Given the description of an element on the screen output the (x, y) to click on. 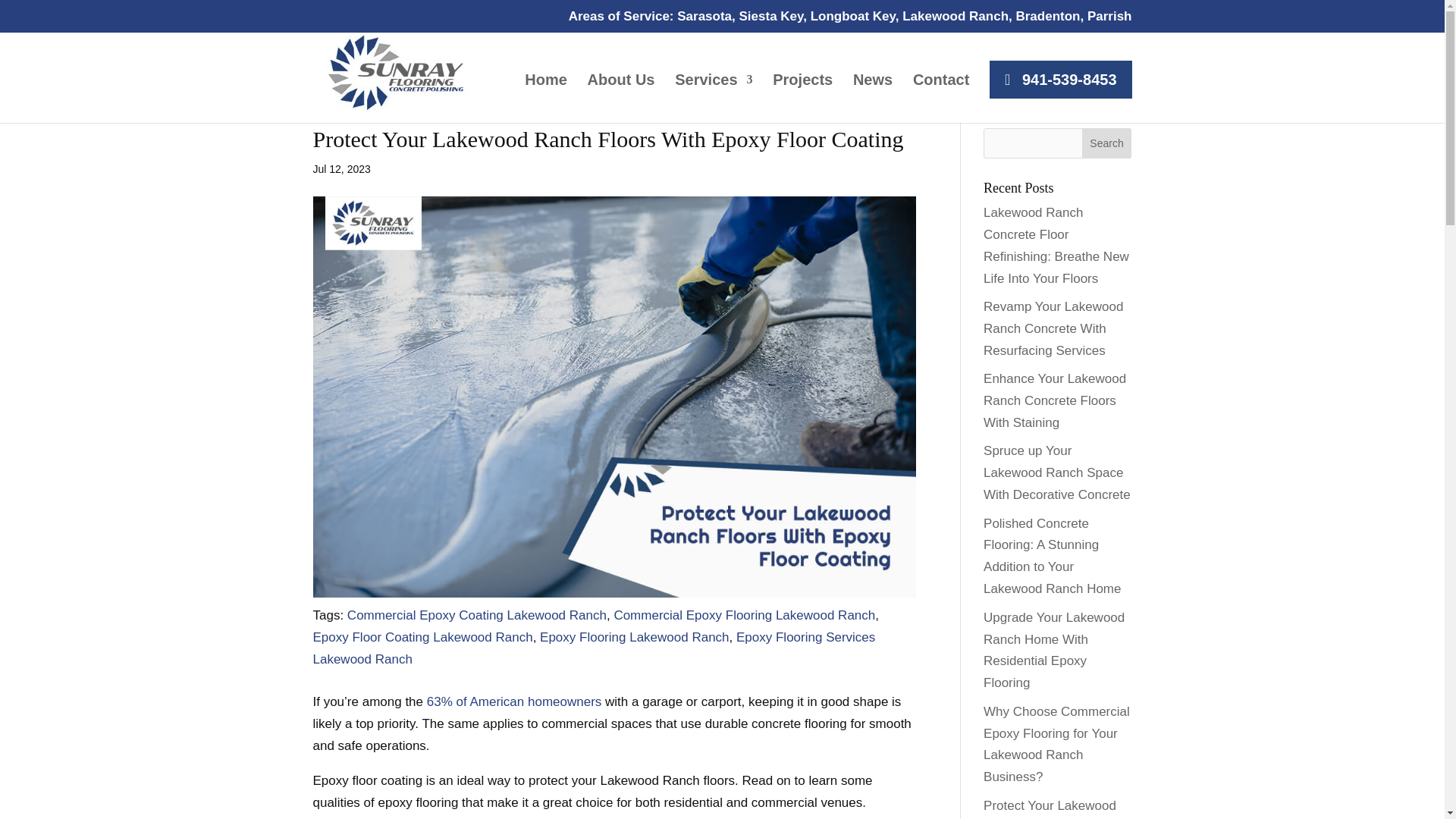
Epoxy Flooring Services Lakewood Ranch (594, 647)
Epoxy Flooring Lakewood Ranch (634, 636)
Epoxy Floor Coating Lakewood Ranch (422, 636)
Projects (802, 98)
941-539-8453 (1060, 79)
Enhance Your Lakewood Ranch Concrete Floors With Staining (1054, 400)
Spruce up Your Lakewood Ranch Space With Decorative Concrete (1057, 472)
